Given the description of an element on the screen output the (x, y) to click on. 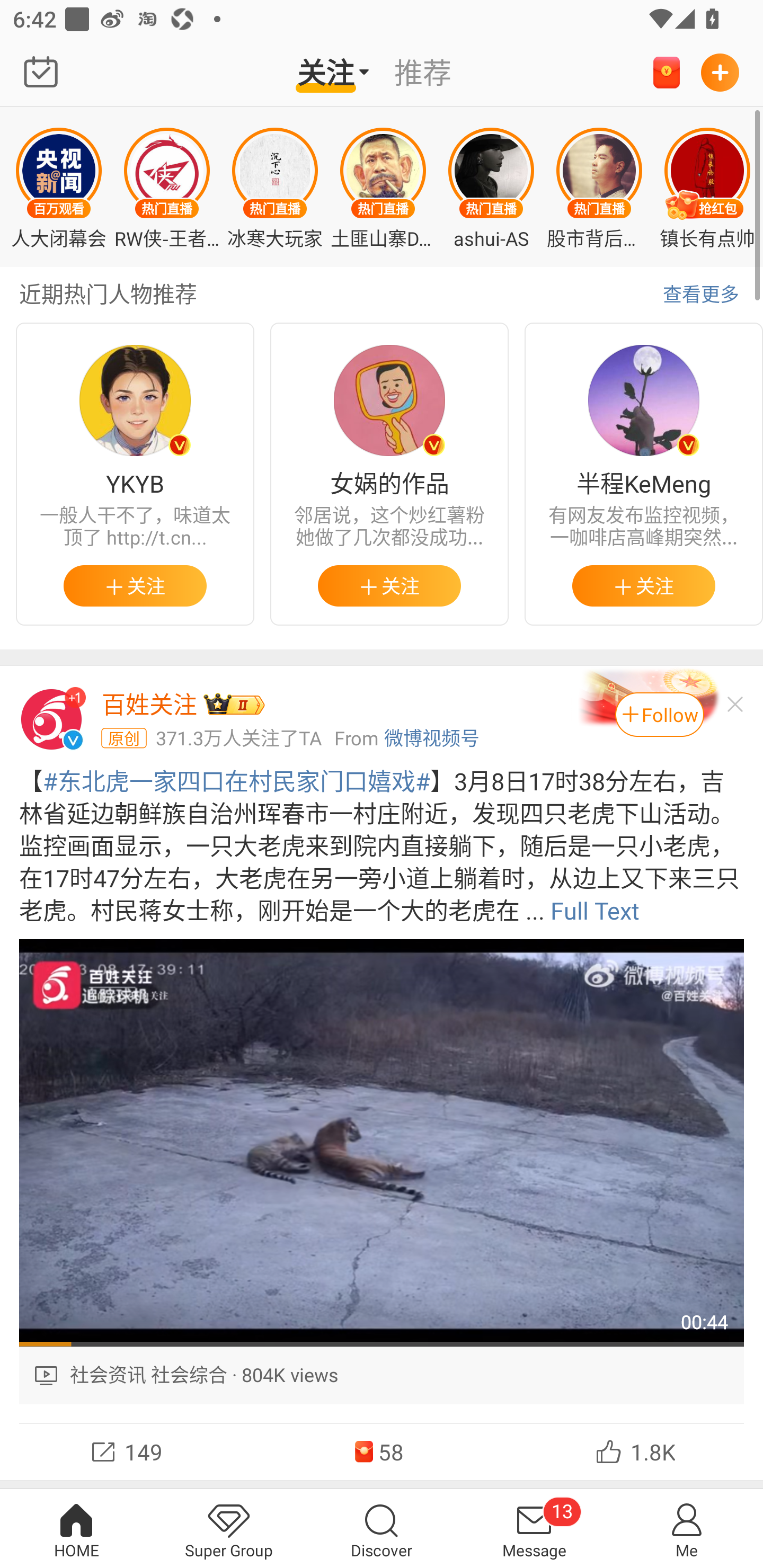
关注 (332, 72)
推荐 (429, 72)
百万观看 百万观看 人大闭幕会 (58, 186)
热门直播 热门直播 RW侠-王者荣耀 (166, 186)
热门直播 热门直播 冰寒大玩家 (274, 186)
热门直播 热门直播 土匪山寨DE寨主 (382, 186)
热门直播 热门直播 ashui-AS (491, 186)
热门直播 热门直播 股市背后故事 (599, 186)
抢红包 抢红包 镇长有点帅 (707, 186)
查看更多 (701, 294)
YKYB 一般人干不了，味道太顶了 http://t.cn... *&**&*关注 (135, 474)
女娲的作品 邻居说，这个炒红薯粉她做了几次都没成功... *&**&*关注 (389, 474)
半程KeMeng 有网友发布监控视频，一咖啡店高峰期突然... *&**&*关注 (643, 474)
*&**&*关注 (134, 585)
*&**&*关注 (389, 585)
*&**&*关注 (643, 585)
00:44 (381, 1142)
社会资讯 社会综合 · 804K views (381, 1375)
Repost149 Like 149 (127, 1451)
Comment58 Like 58 (381, 1451)
Like 1.8K (635, 1451)
HOME (76, 1527)
Super Group (228, 1527)
Discover (381, 1527)
Message (533, 1527)
Me (686, 1527)
